Given the description of an element on the screen output the (x, y) to click on. 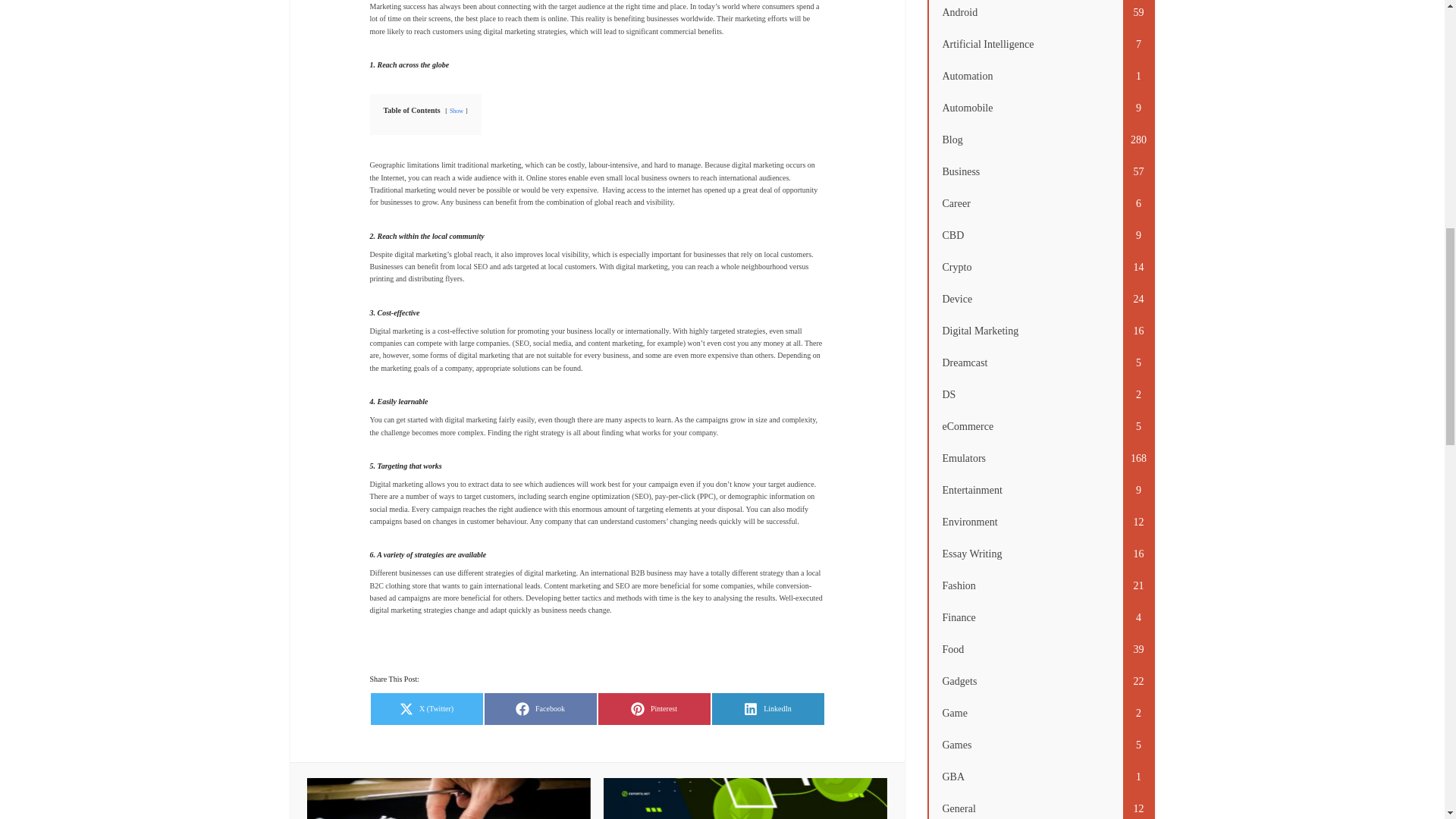
Show (653, 708)
Computer Repair: 5 Benefits of Hiring Professionals (539, 708)
A List Of The Best Android and iOS P2E games (456, 110)
